Given the description of an element on the screen output the (x, y) to click on. 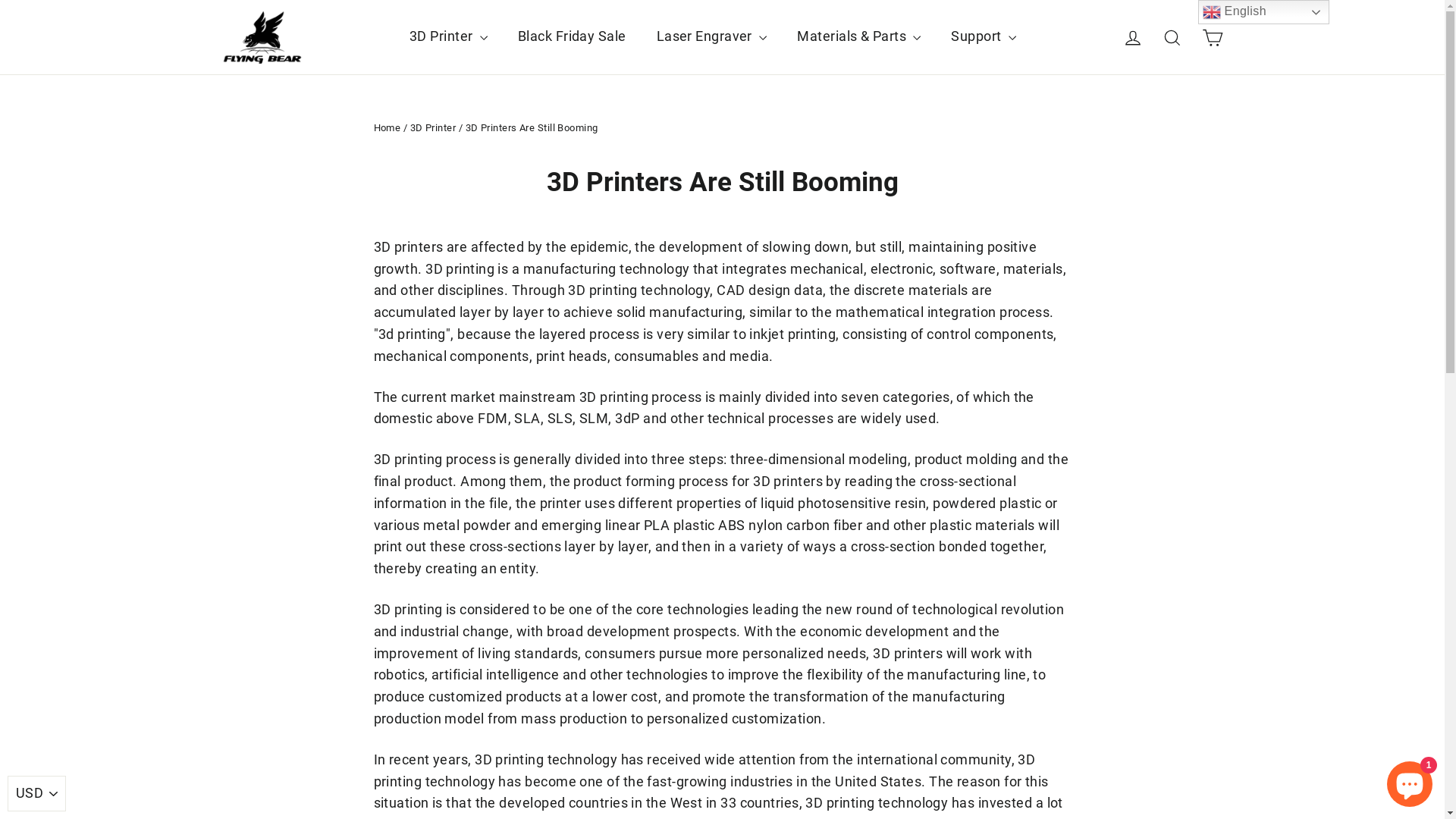
Home Element type: text (386, 127)
English Element type: text (1263, 12)
3D Printer Element type: text (433, 127)
Laser Engraver Element type: text (711, 36)
Black Friday Sale Element type: text (571, 36)
Search Element type: text (1172, 36)
Cart Element type: text (1211, 36)
Materials & Parts Element type: text (858, 36)
3D Printer Element type: text (448, 36)
Skip to content Element type: text (0, 0)
Log in Element type: text (1132, 36)
Shopify online store chat Element type: hover (1409, 780)
Support Element type: text (983, 36)
